Given the description of an element on the screen output the (x, y) to click on. 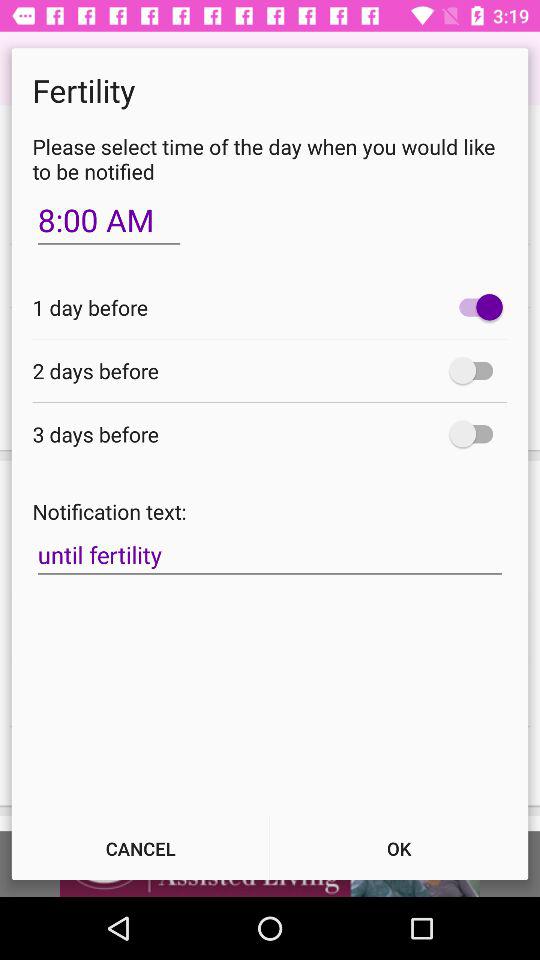
turn off the icon at the top left corner (108, 220)
